Given the description of an element on the screen output the (x, y) to click on. 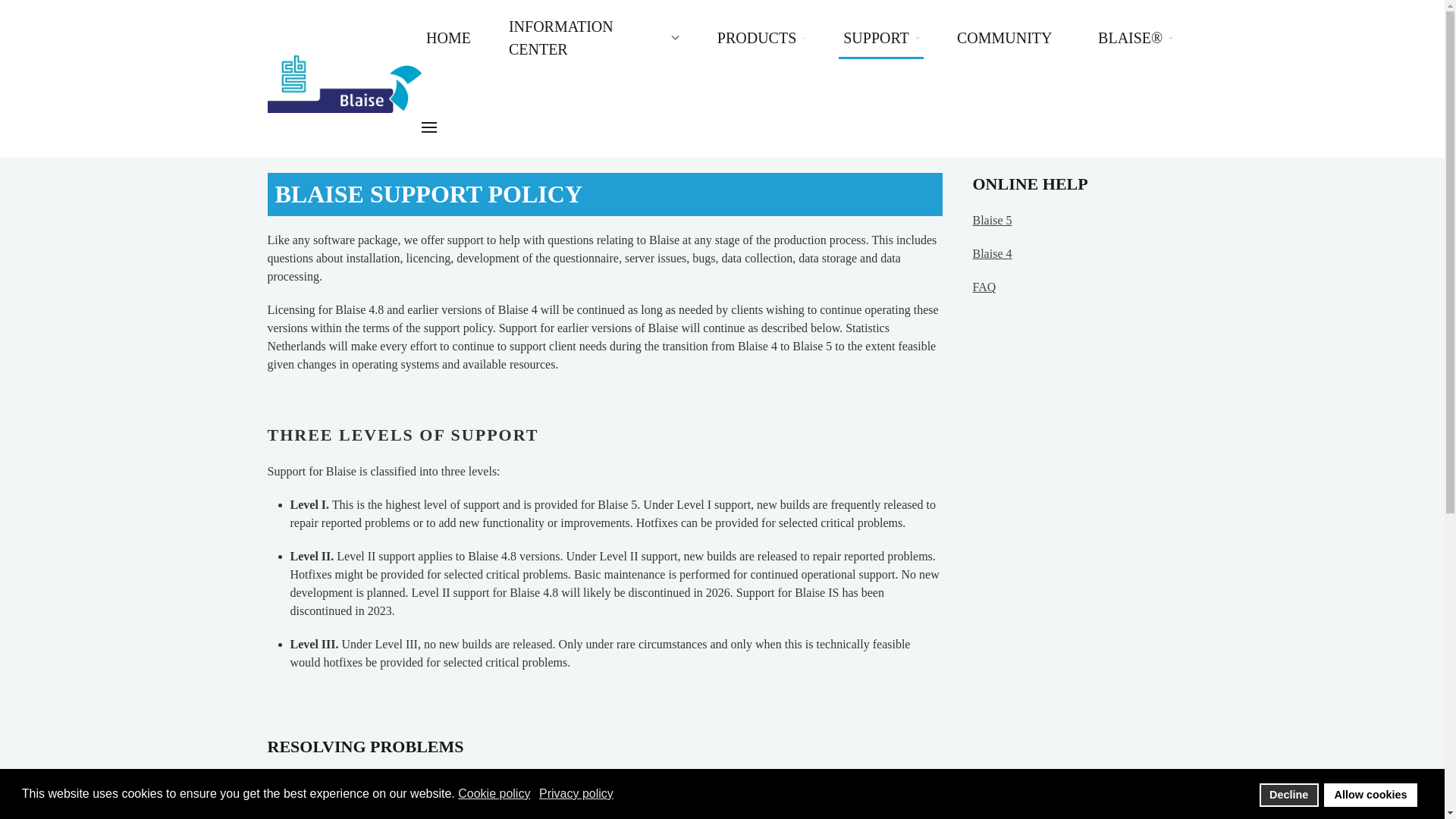
COMMUNITY (1008, 37)
HOME (449, 37)
SUPPORT (880, 37)
Cookie policy (495, 793)
Decline (1289, 794)
Privacy policy (576, 793)
INFORMATION CENTER (593, 37)
Allow cookies (1369, 794)
PRODUCTS (761, 37)
